Given the description of an element on the screen output the (x, y) to click on. 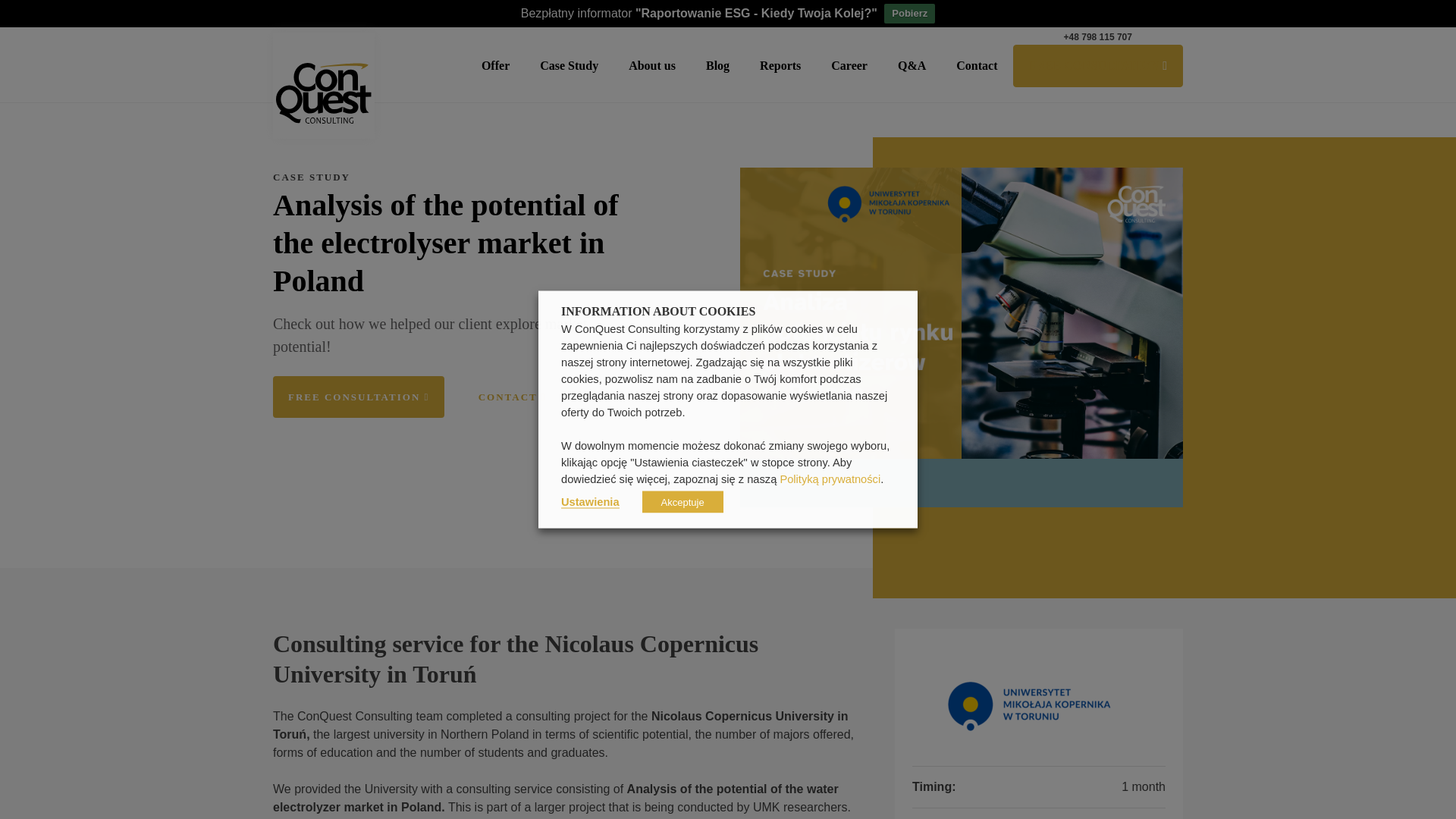
Offer (495, 65)
FREE CONSULTATION (1097, 65)
Contact (976, 65)
Case Study (569, 65)
Reports (780, 65)
FREE CONSULTATION (358, 396)
About us (651, 65)
Pobierz (908, 13)
Blog (717, 65)
Career (849, 65)
